Given the description of an element on the screen output the (x, y) to click on. 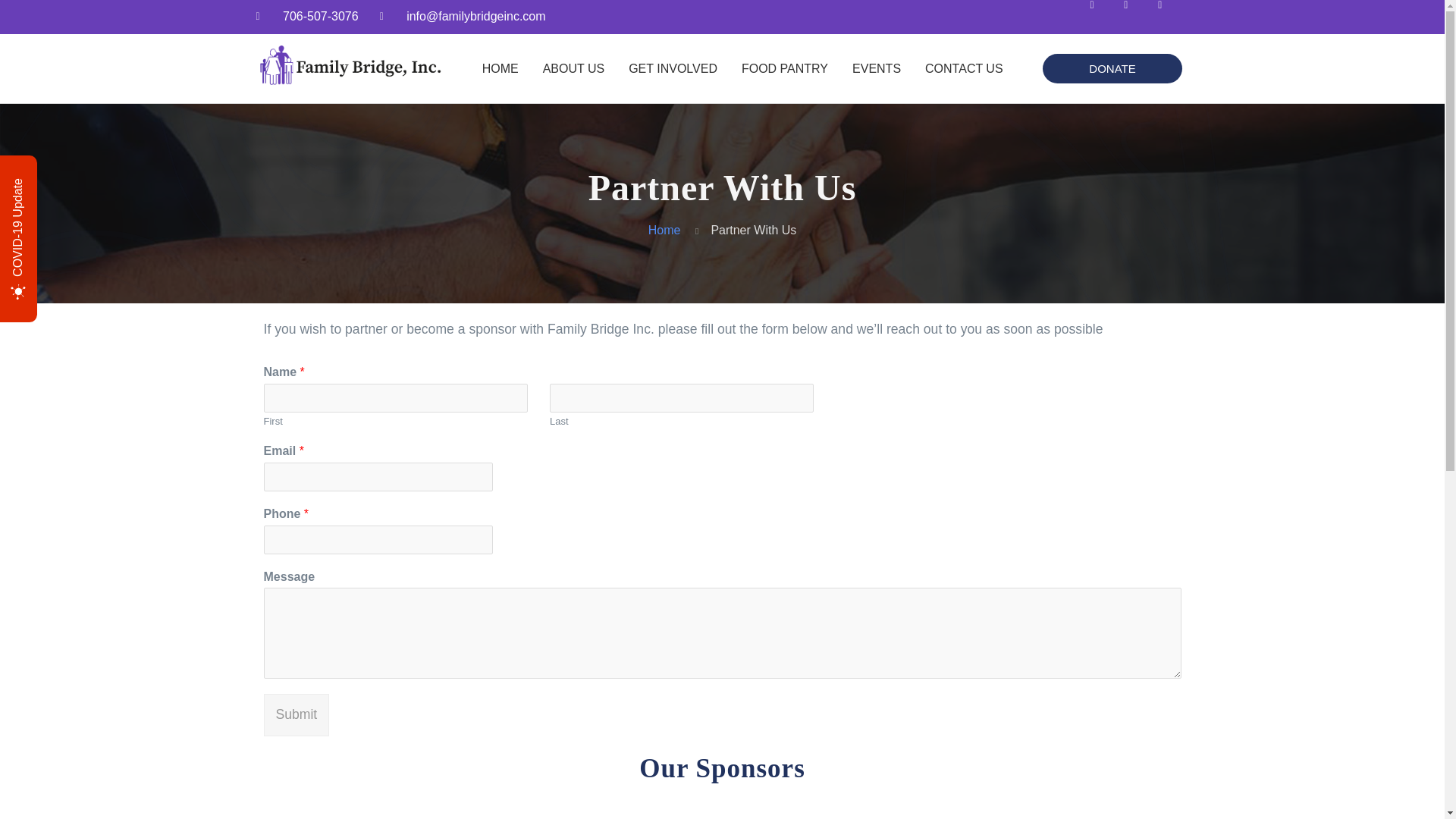
EVENTS (876, 68)
COVID-19 Update (71, 185)
CONTACT US (963, 68)
GET INVOLVED (672, 68)
HOME (500, 68)
Submit (296, 714)
DONATE (1112, 68)
FOOD PANTRY (784, 68)
ABOUT US (574, 68)
Home (664, 229)
